Given the description of an element on the screen output the (x, y) to click on. 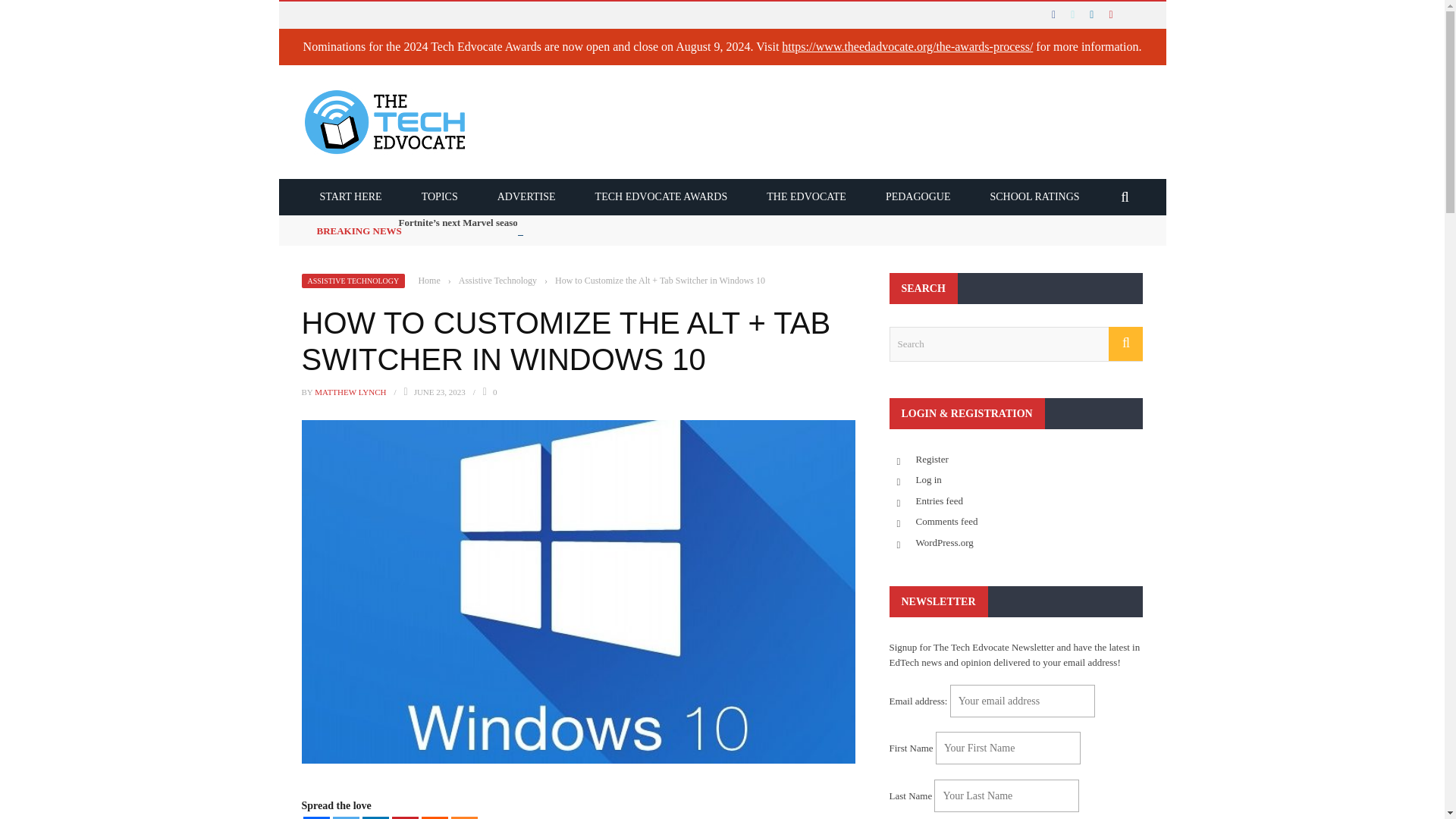
Search (1015, 343)
Twitter (344, 817)
Facebook (316, 817)
Pinterest (404, 817)
Linkedin (375, 817)
Reddit (435, 817)
Mix (463, 817)
